Given the description of an element on the screen output the (x, y) to click on. 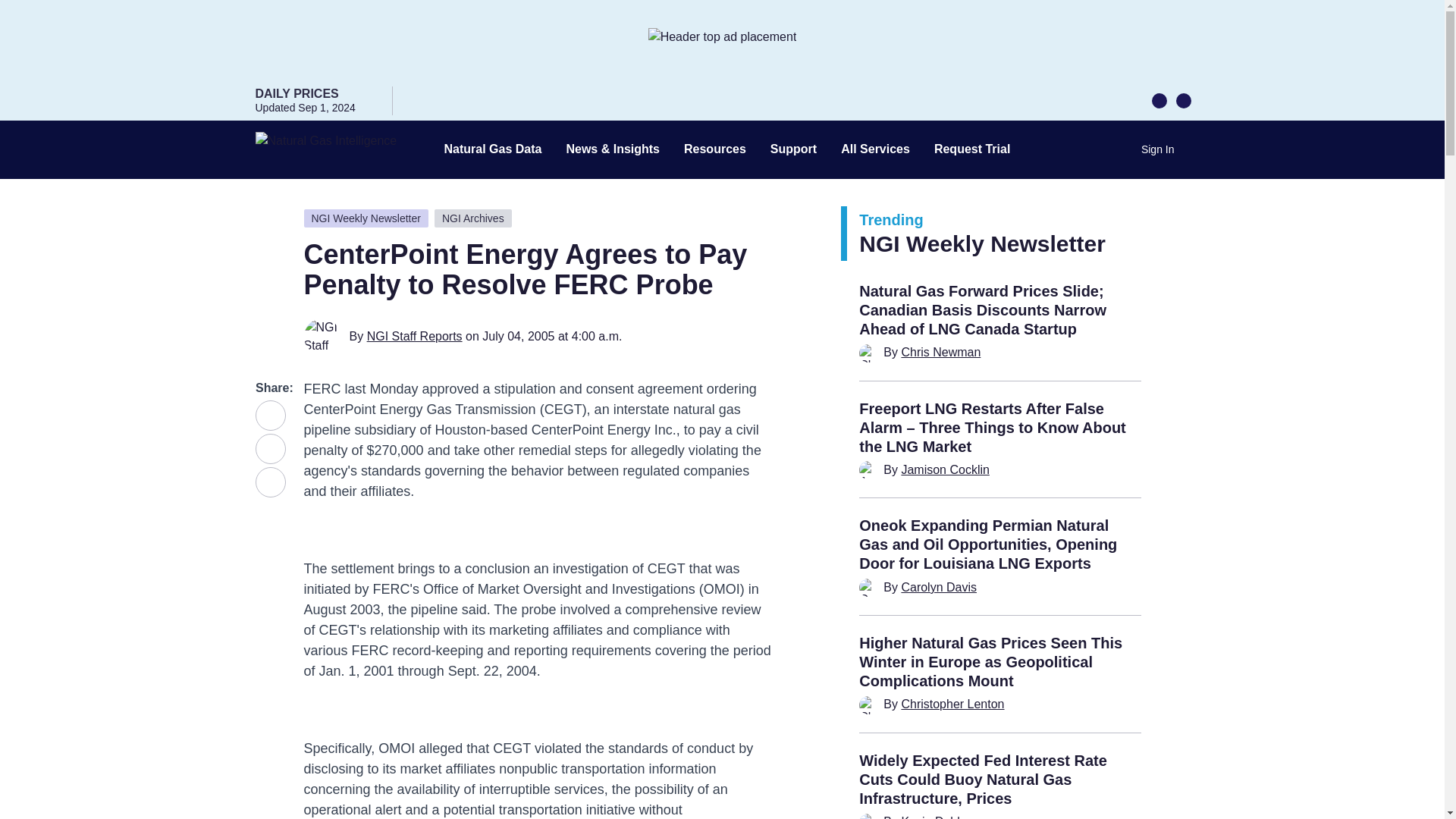
Scroll Right (1182, 99)
Scroll Left (1158, 99)
Natural Gas Data (492, 149)
